Given the description of an element on the screen output the (x, y) to click on. 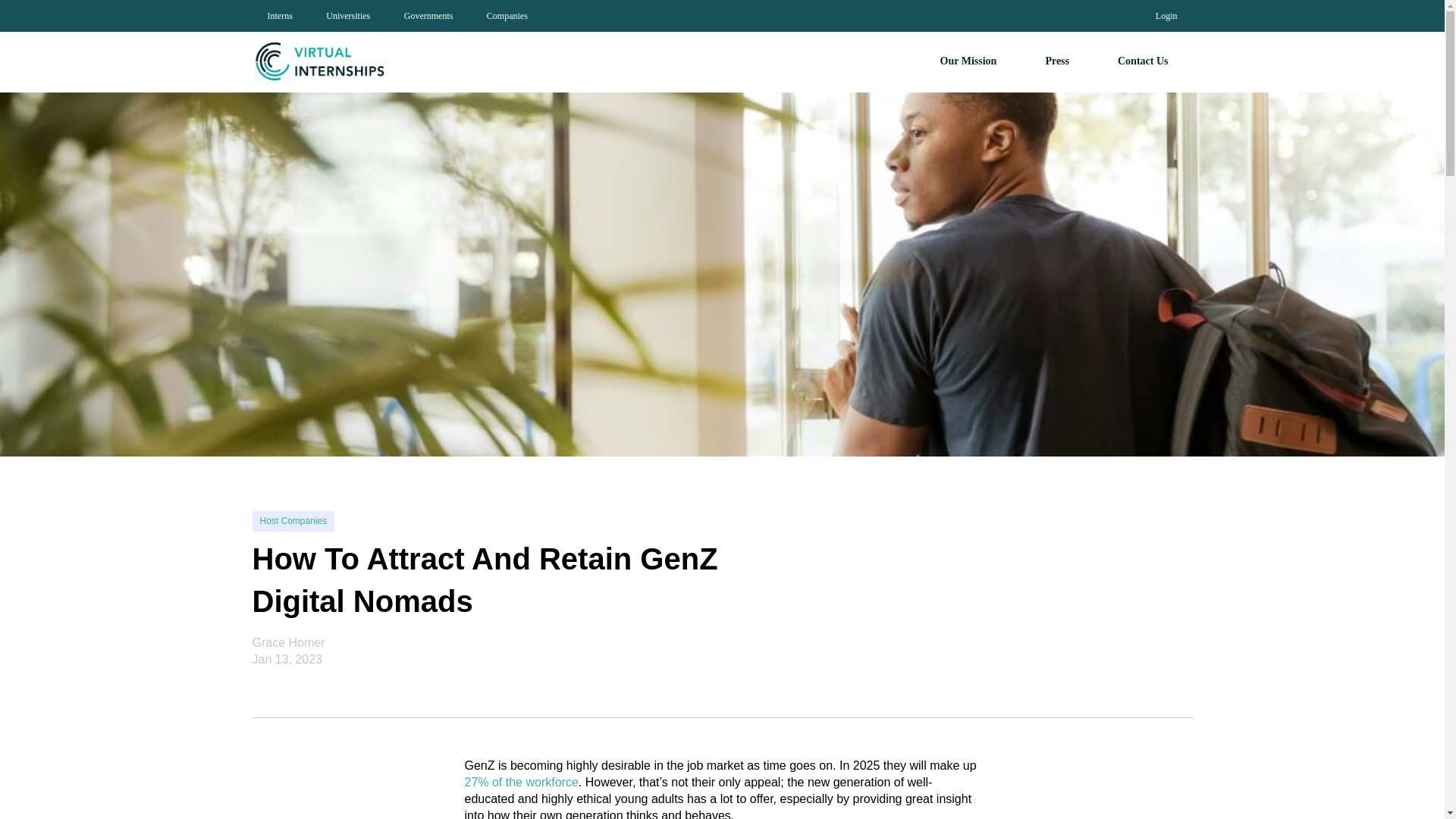
Press (1056, 61)
Governments (428, 15)
Grace Homer (287, 642)
Interns (279, 15)
Our Mission (968, 61)
Contact Us (1143, 61)
Companies (507, 15)
Login (1166, 15)
Universities (348, 15)
Host Companies (292, 521)
